Given the description of an element on the screen output the (x, y) to click on. 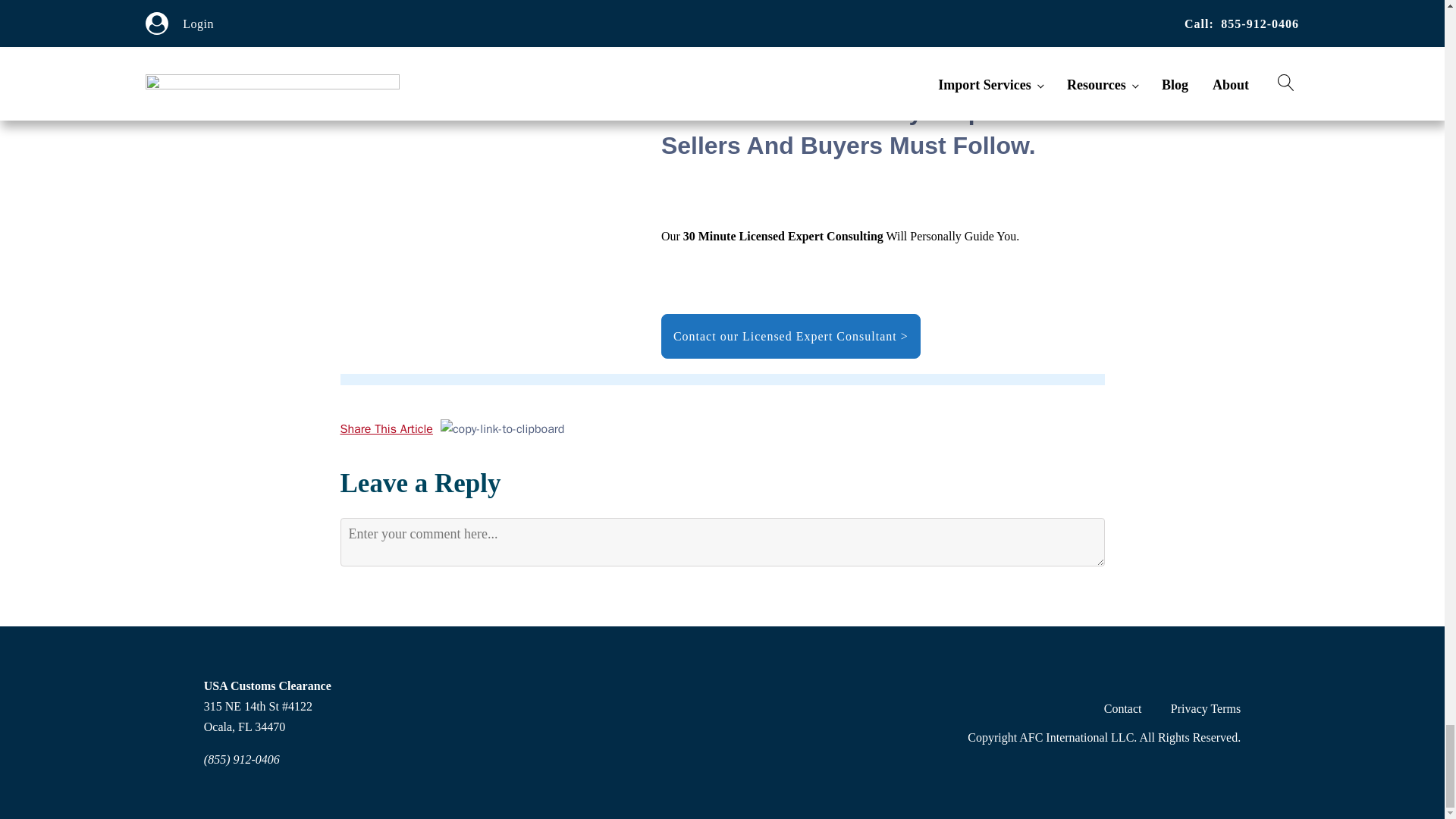
Enter your comment here... (721, 541)
